Given the description of an element on the screen output the (x, y) to click on. 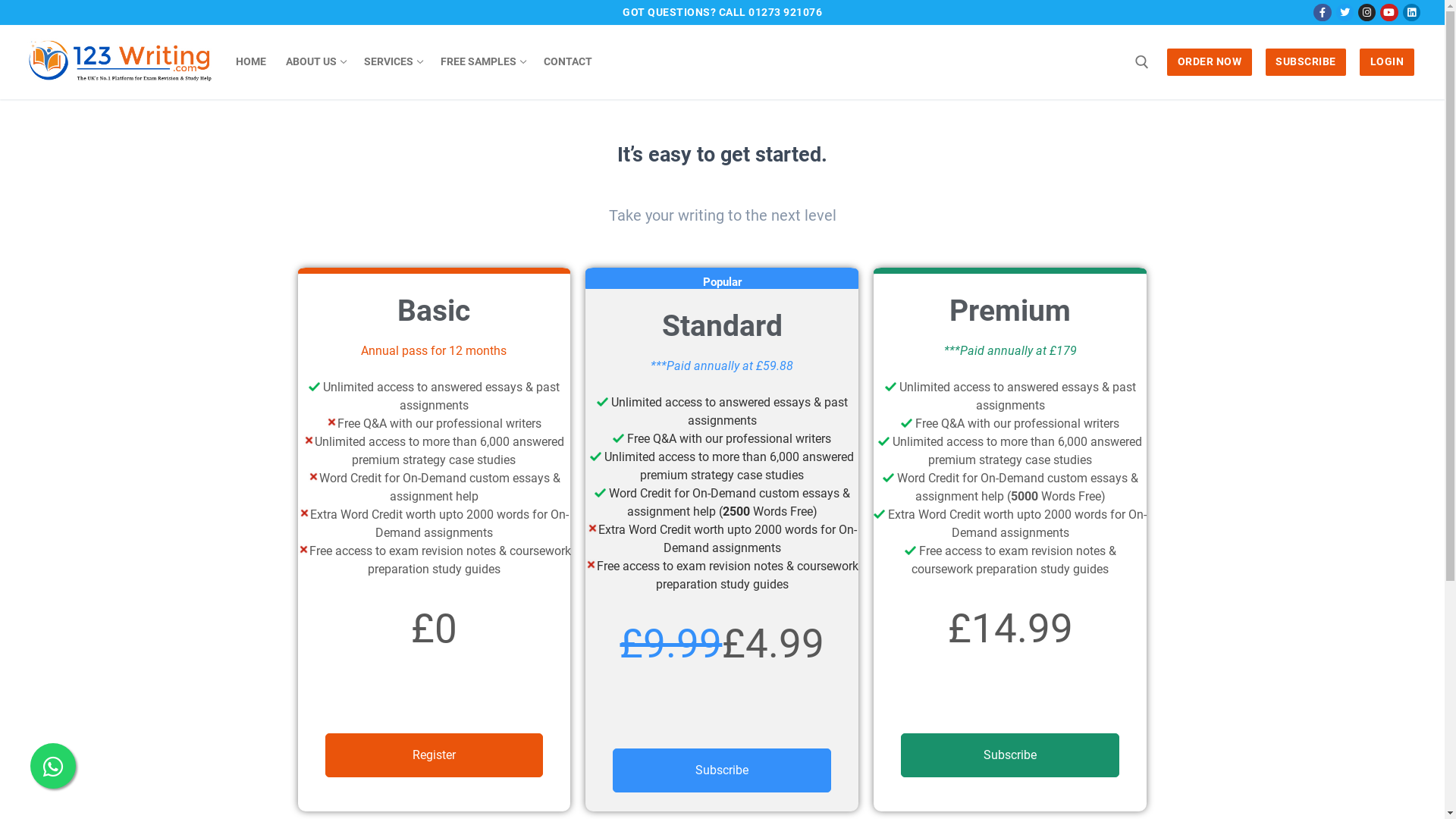
Twitter Element type: hover (1344, 12)
LinkedIn Element type: hover (1411, 12)
Subscribe Element type: text (1009, 755)
FREE SAMPLES
  Element type: text (481, 61)
ABOUT US
  Element type: text (315, 61)
Youtube Element type: hover (1388, 12)
LOGIN Element type: text (1386, 62)
Facebook Element type: hover (1322, 12)
Register Element type: text (433, 755)
GOT QUESTIONS? CALL 01273 921076 Element type: text (721, 12)
SERVICES
  Element type: text (392, 61)
SUBSCRIBE Element type: text (1305, 62)
Instagram Element type: hover (1366, 12)
Subscribe Element type: text (721, 770)
CONTACT Element type: text (567, 61)
HOME Element type: text (250, 61)
ORDER NOW Element type: text (1209, 62)
